Given the description of an element on the screen output the (x, y) to click on. 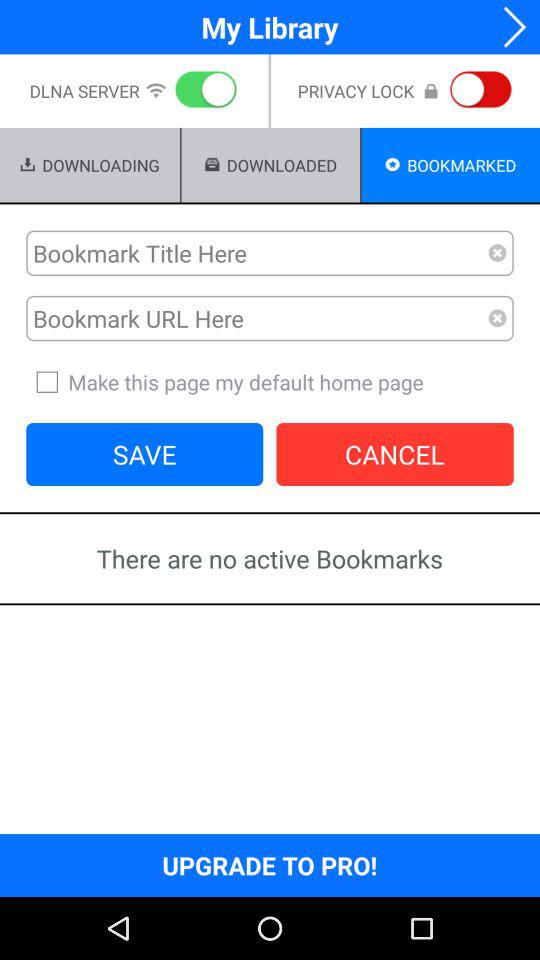
next step (508, 26)
